Given the description of an element on the screen output the (x, y) to click on. 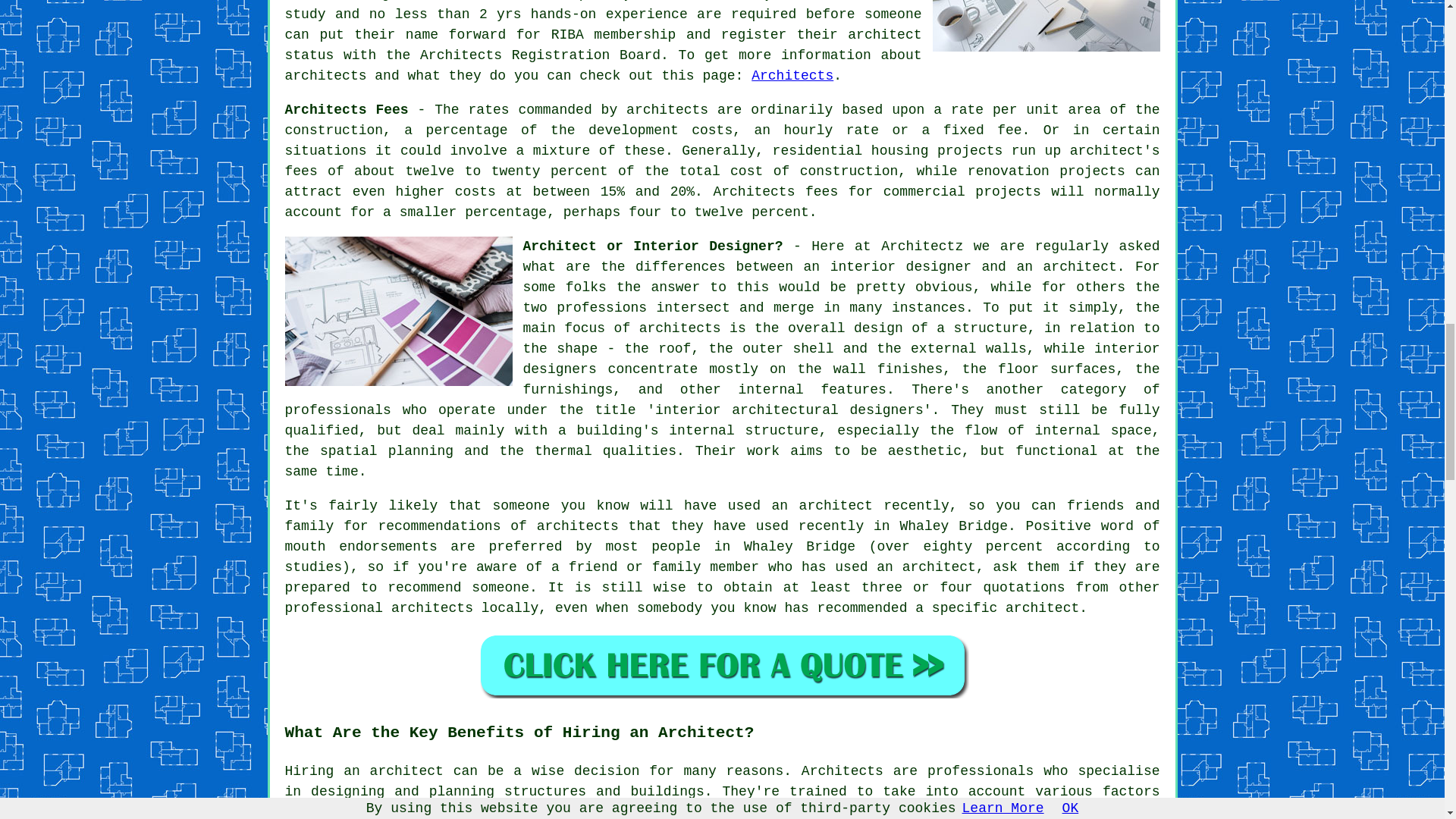
Book a Architect in Whaley Bridge UK (722, 665)
Architects Near Whaley Bridge Derbyshire (1046, 25)
interior architectural designers (789, 409)
